Given the description of an element on the screen output the (x, y) to click on. 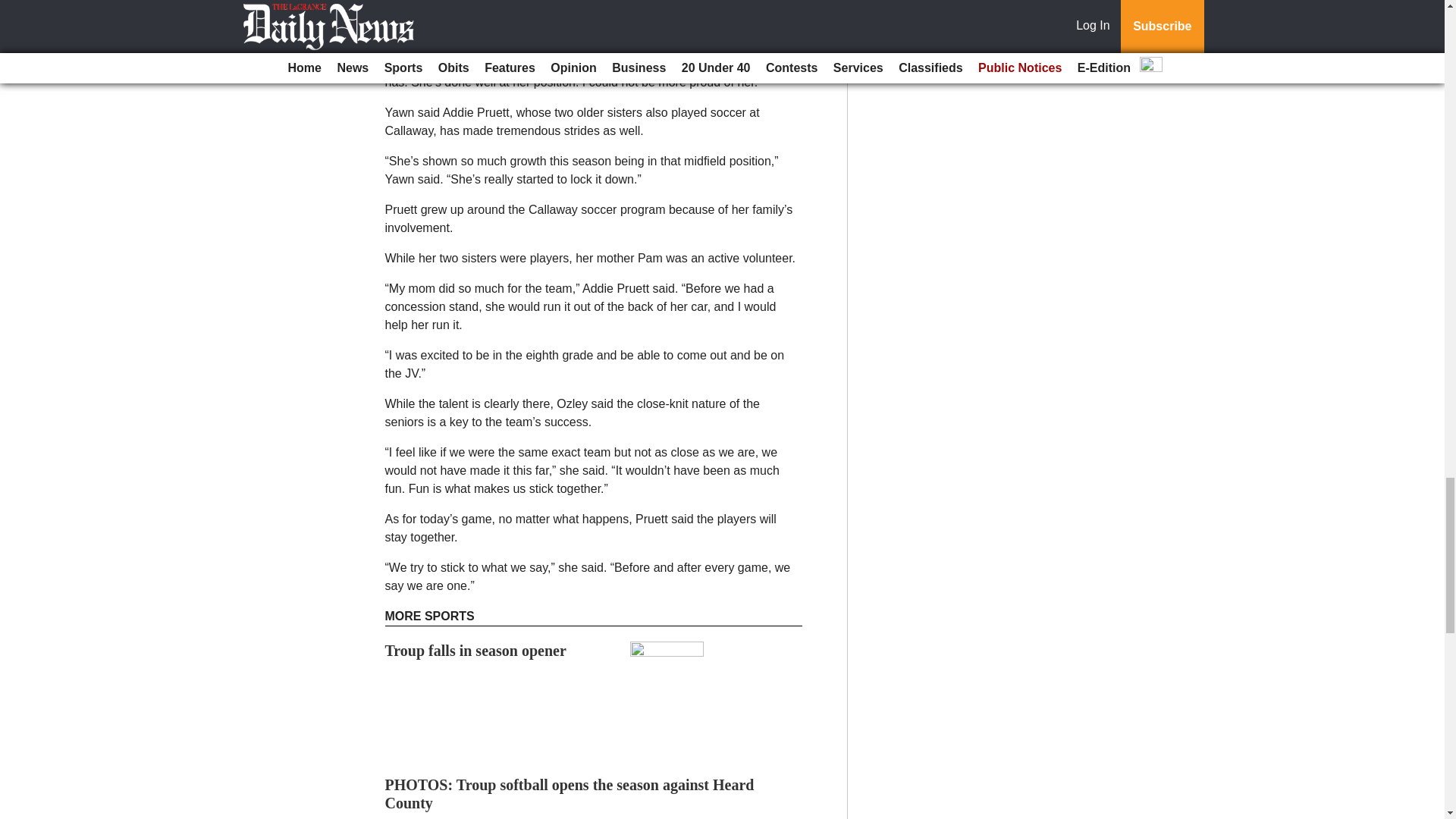
PHOTOS: Troup softball opens the season against Heard County (569, 793)
Troup falls in season opener (475, 650)
Troup falls in season opener (475, 650)
PHOTOS: Troup softball opens the season against Heard County (569, 793)
